Given the description of an element on the screen output the (x, y) to click on. 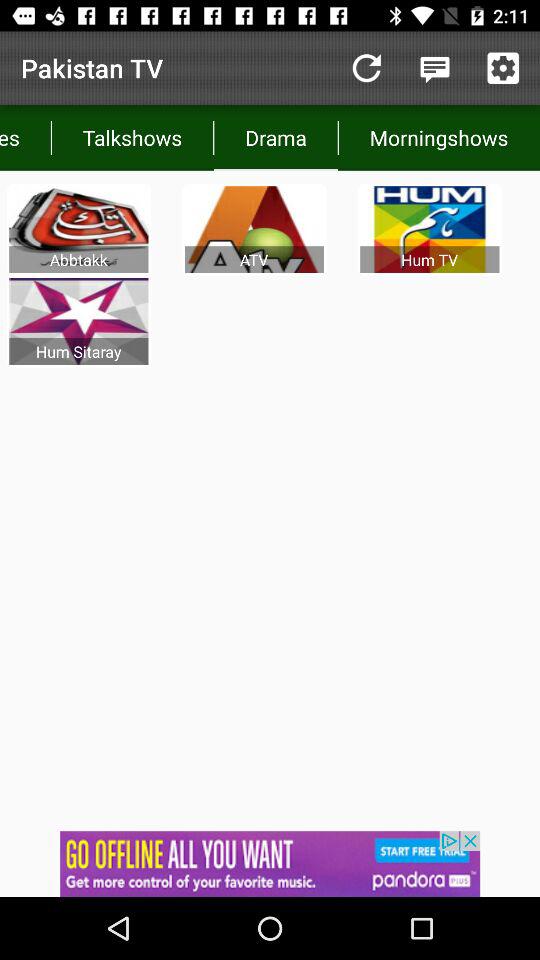
open chat (434, 67)
